Given the description of an element on the screen output the (x, y) to click on. 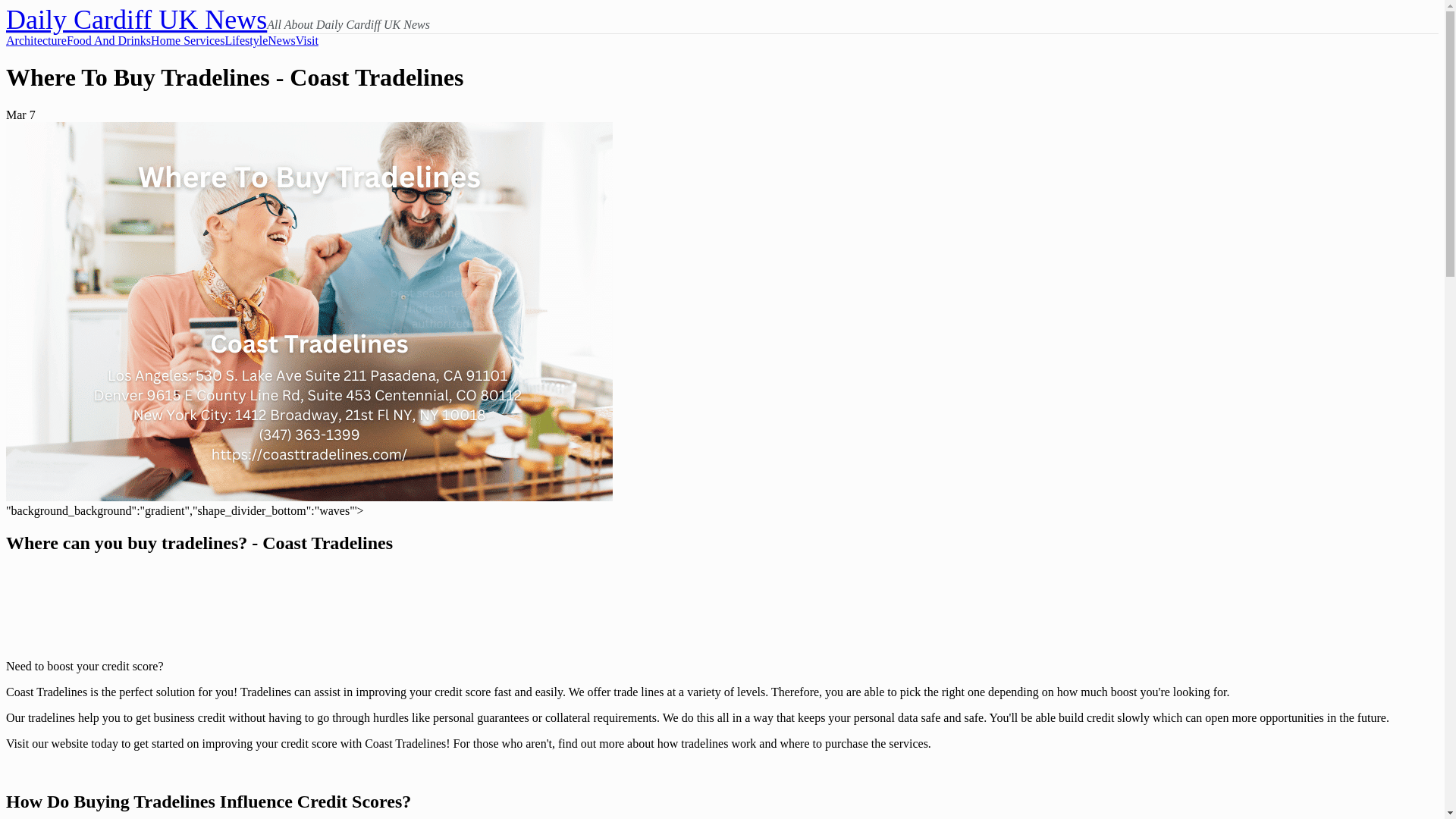
Daily Cardiff UK News (135, 19)
Lifestyle (245, 40)
Food And Drinks (108, 40)
Architecture (35, 40)
Home Services (187, 40)
Visit (306, 40)
News (281, 40)
